Given the description of an element on the screen output the (x, y) to click on. 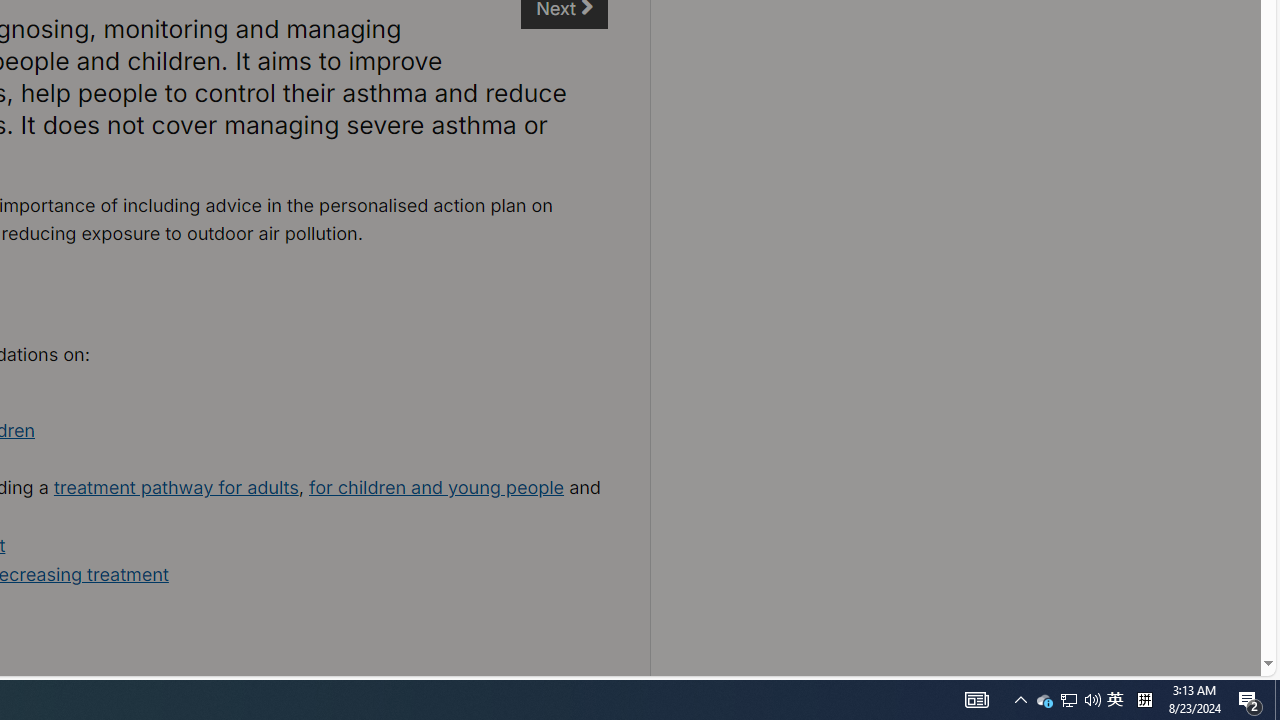
for children and young people (436, 487)
treatment pathway for adults (175, 487)
